Given the description of an element on the screen output the (x, y) to click on. 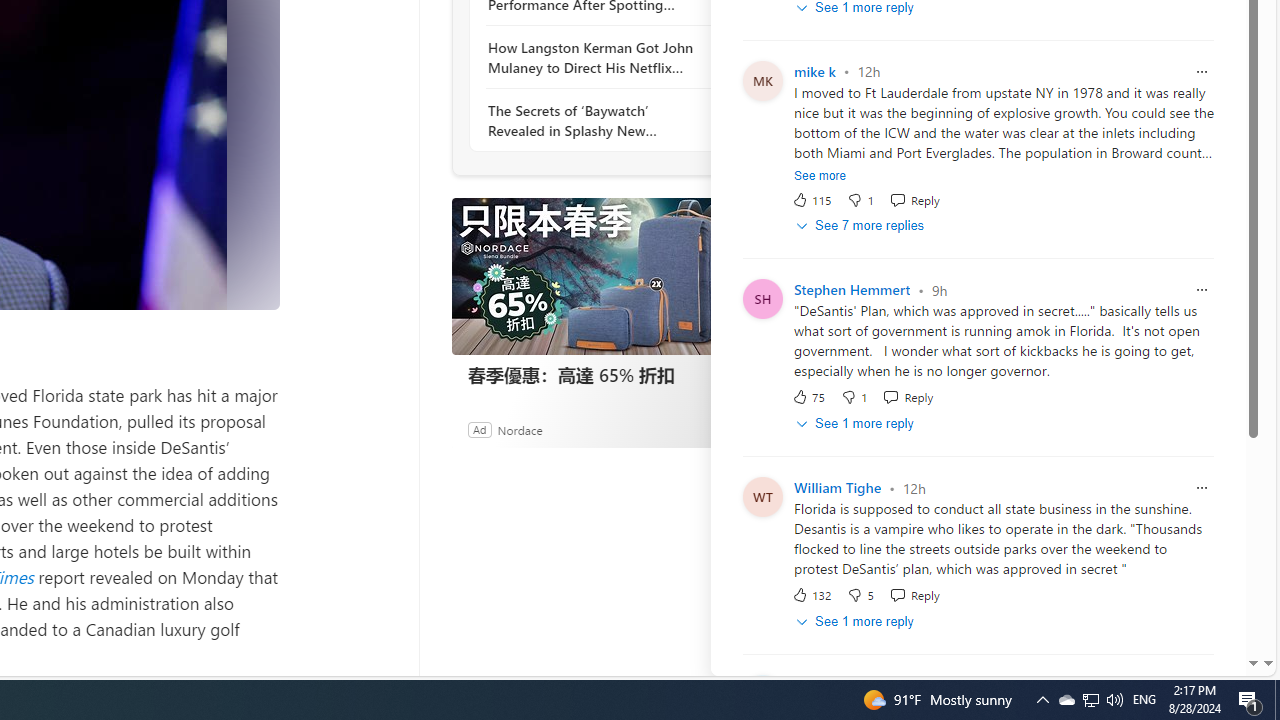
Feedback (1185, 659)
mike k (814, 71)
Report comment (1201, 684)
132 Like (811, 595)
Ad Choice (729, 429)
Profile Picture (762, 693)
Nordace (519, 429)
William Tighe (837, 488)
Dislike (859, 595)
